Given the description of an element on the screen output the (x, y) to click on. 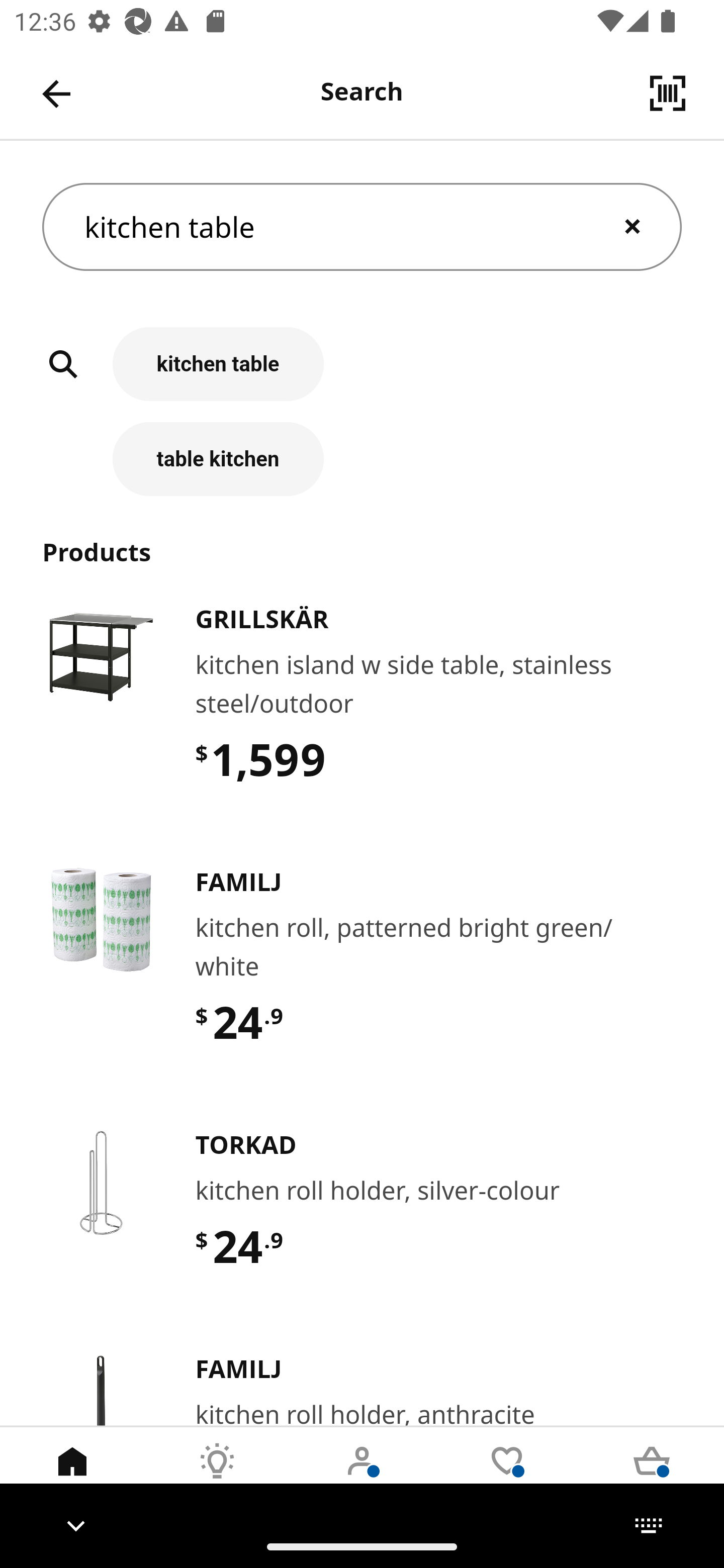
kitchen table (361, 227)
kitchen table (361, 374)
table kitchen (361, 458)
Home
Tab 1 of 5 (72, 1476)
Inspirations
Tab 2 of 5 (216, 1476)
User
Tab 3 of 5 (361, 1476)
Wishlist
Tab 4 of 5 (506, 1476)
Cart
Tab 5 of 5 (651, 1476)
